Given the description of an element on the screen output the (x, y) to click on. 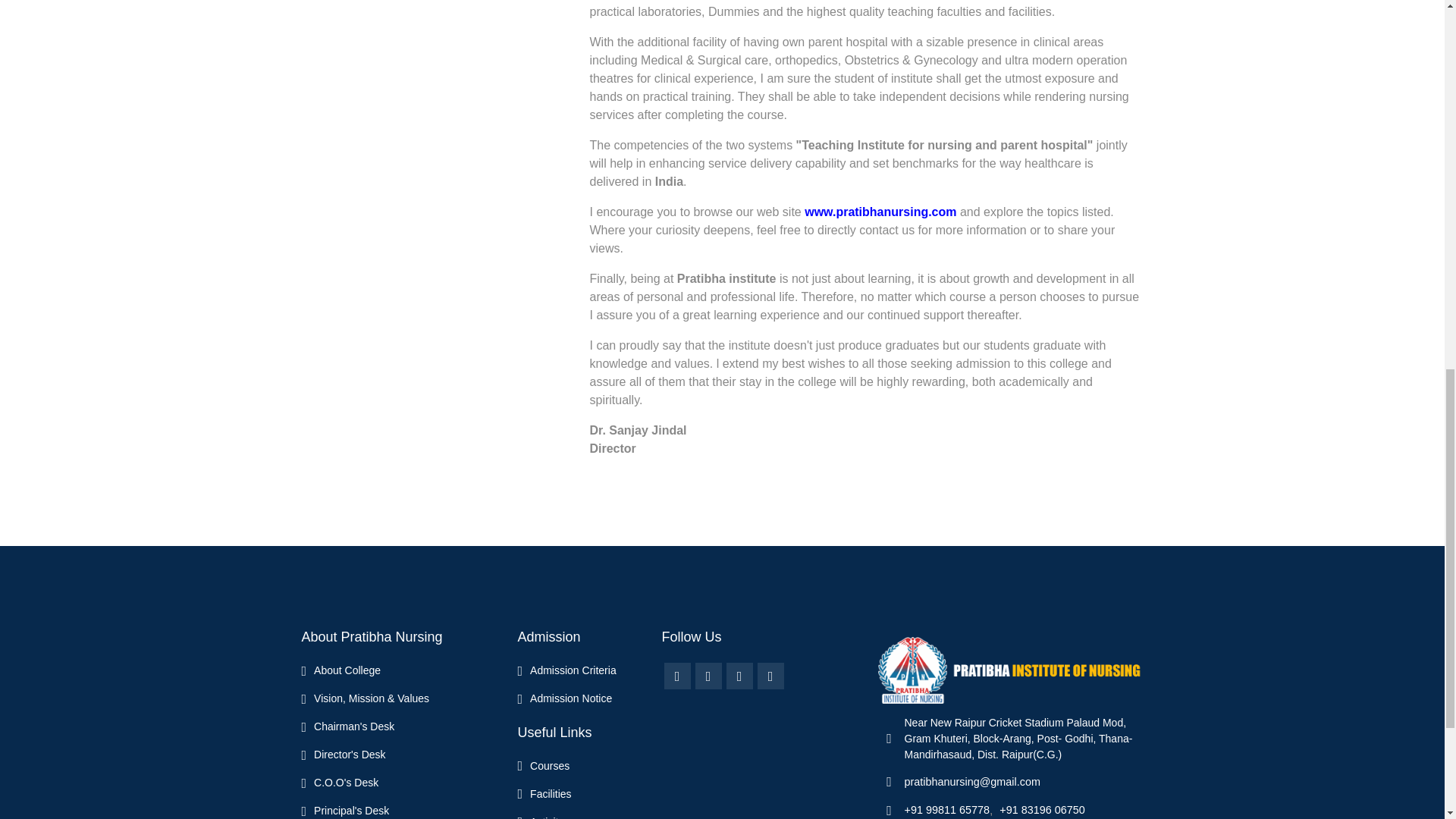
About College (341, 670)
www.pratibhanursing.com (880, 211)
Pratibha Institute of Nursing (1009, 669)
